Given the description of an element on the screen output the (x, y) to click on. 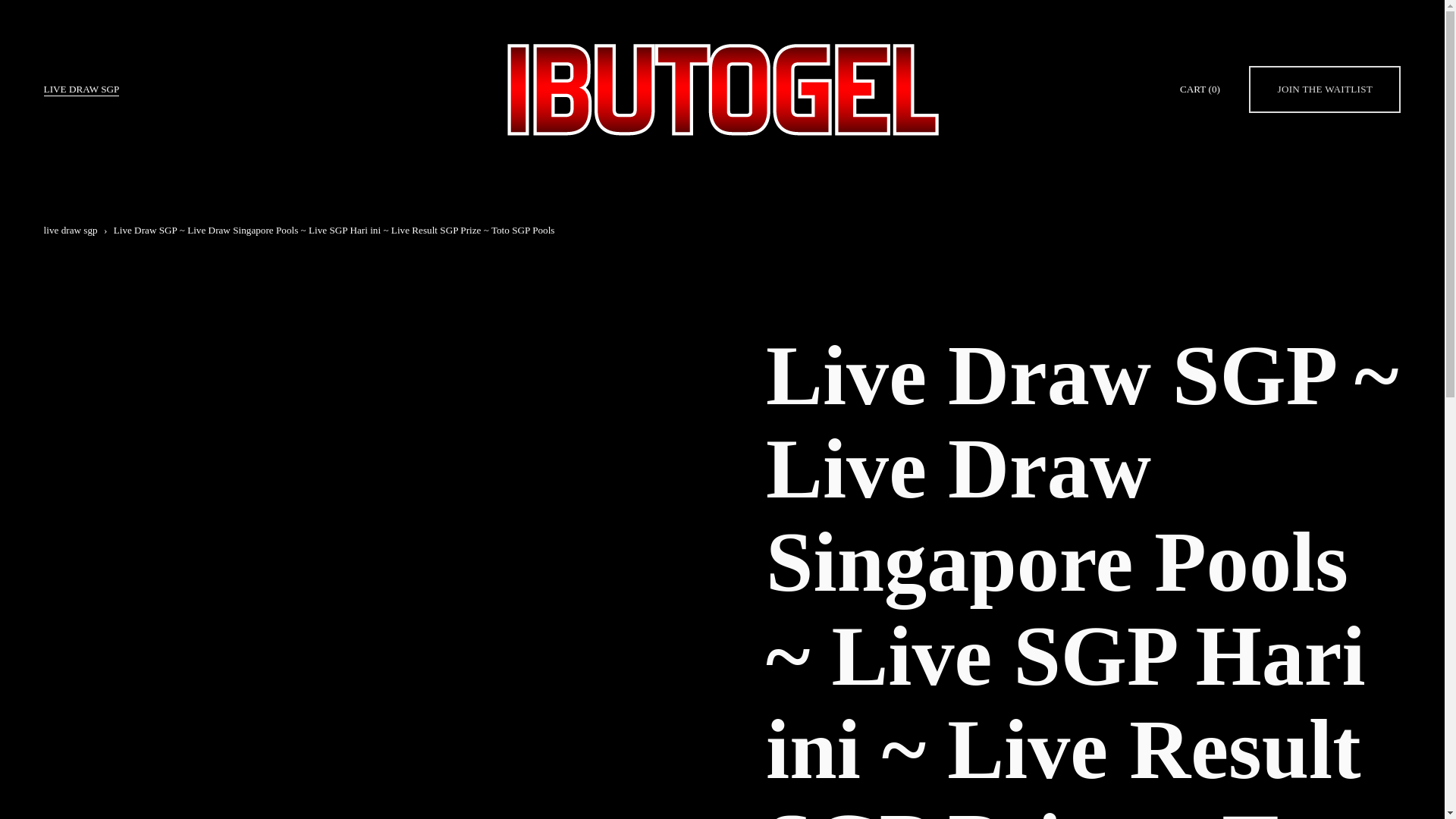
JOIN THE WAITLIST (1324, 89)
LIVE DRAW SGP (81, 89)
live draw sgp (70, 229)
